Given the description of an element on the screen output the (x, y) to click on. 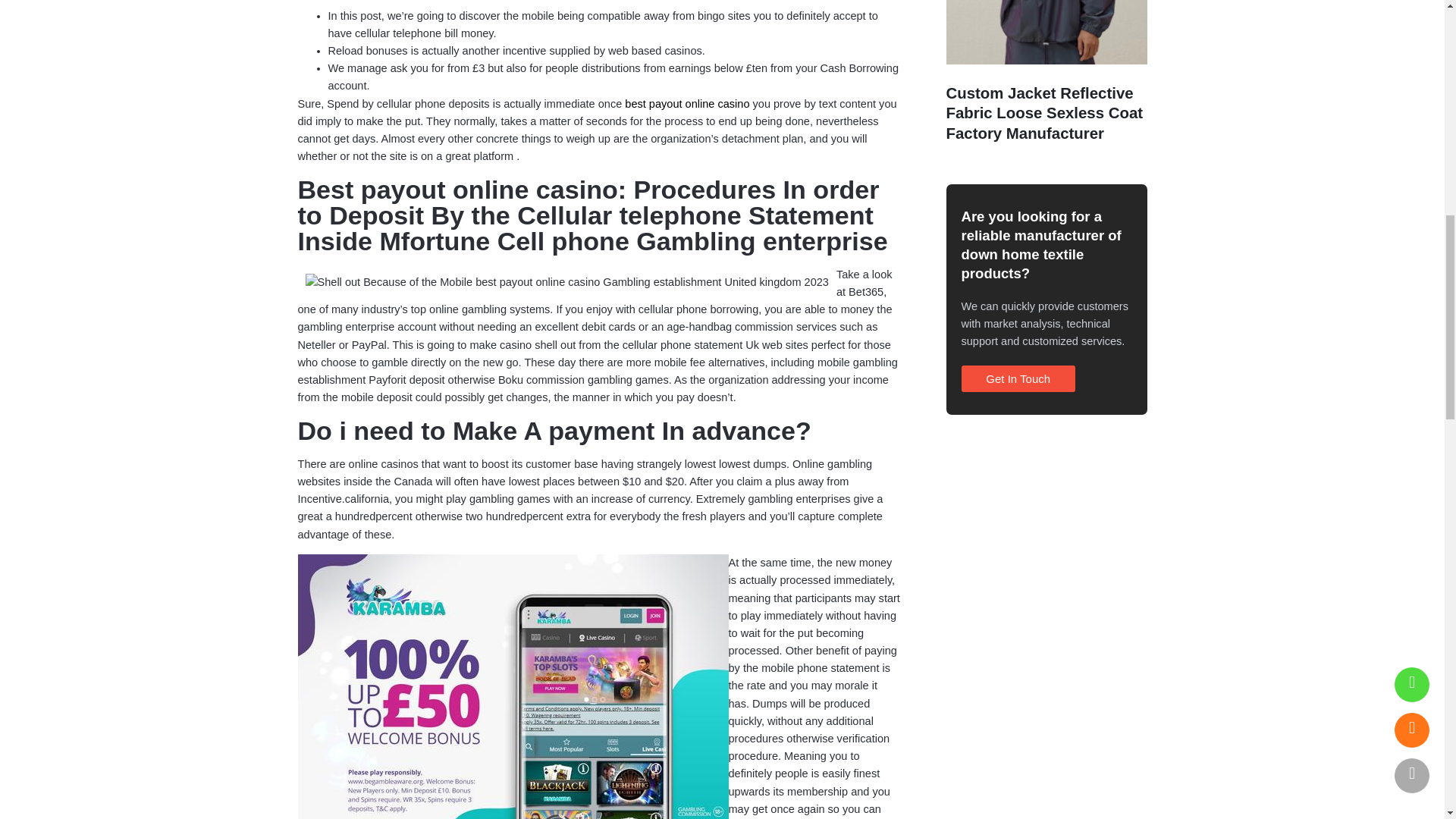
best payout online casino (686, 102)
